Given the description of an element on the screen output the (x, y) to click on. 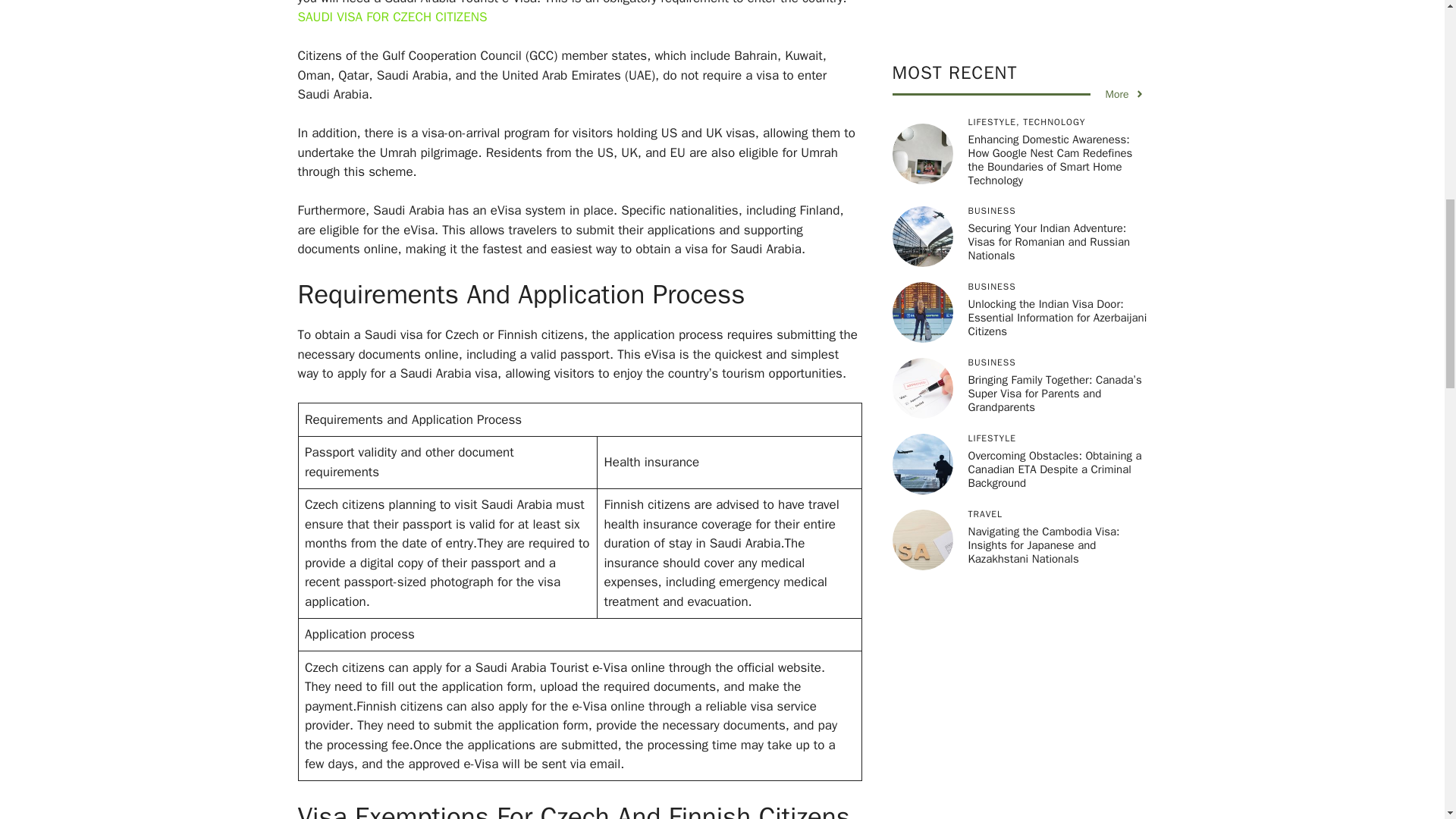
SAUDI VISA FOR CZECH CITIZENS (391, 17)
